Given the description of an element on the screen output the (x, y) to click on. 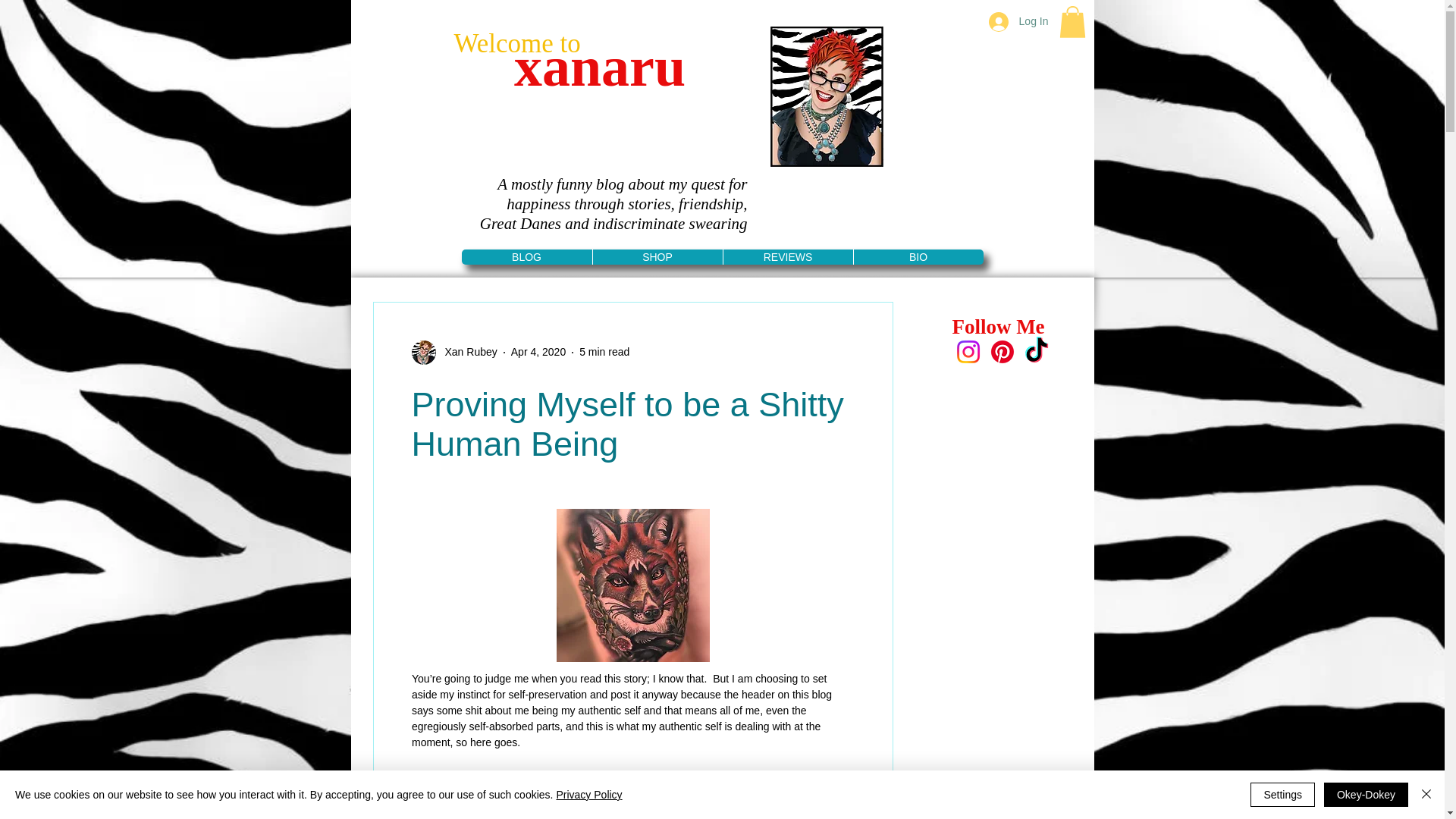
Xan Rubey (465, 351)
BLOG (526, 256)
REVIEWS (786, 256)
xanaru (599, 66)
5 min read (603, 351)
BIO (916, 256)
Log In (1018, 21)
SHOP (656, 256)
Xan Rubey (453, 352)
Apr 4, 2020 (538, 351)
